Given the description of an element on the screen output the (x, y) to click on. 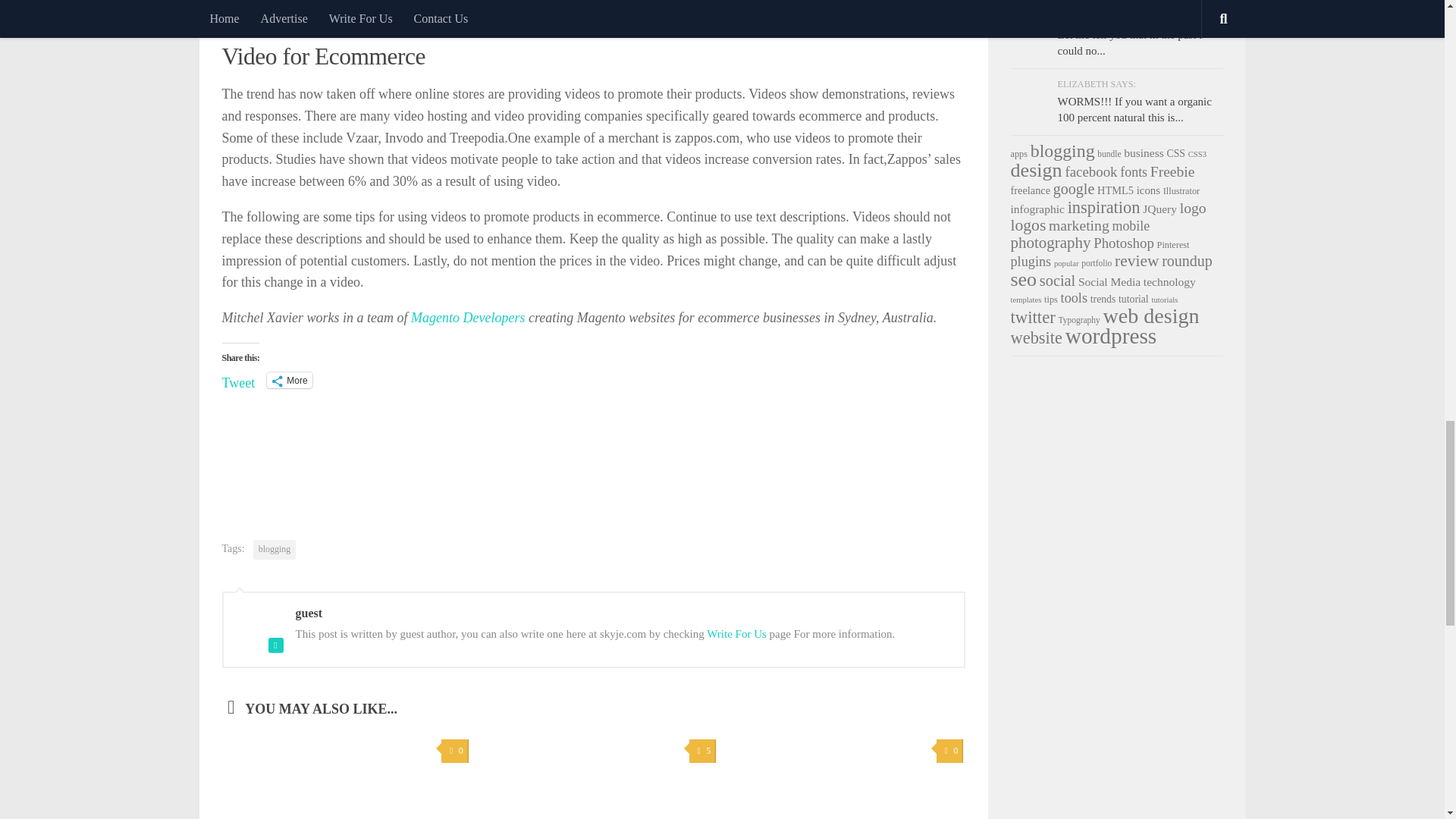
Magento Developers (467, 317)
Tweet (237, 378)
More (288, 380)
